Given the description of an element on the screen output the (x, y) to click on. 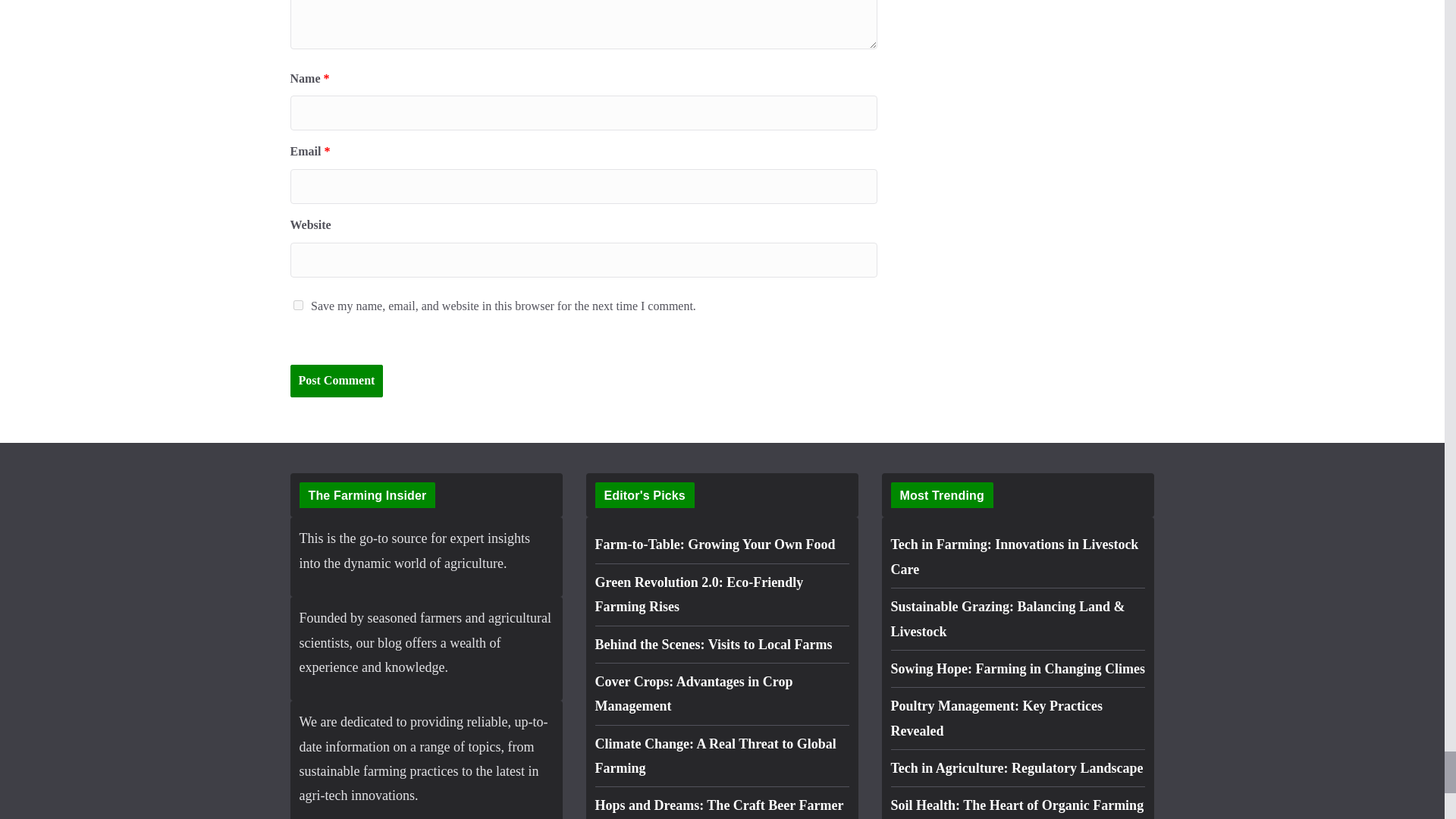
Post Comment (335, 380)
yes (297, 305)
